Given the description of an element on the screen output the (x, y) to click on. 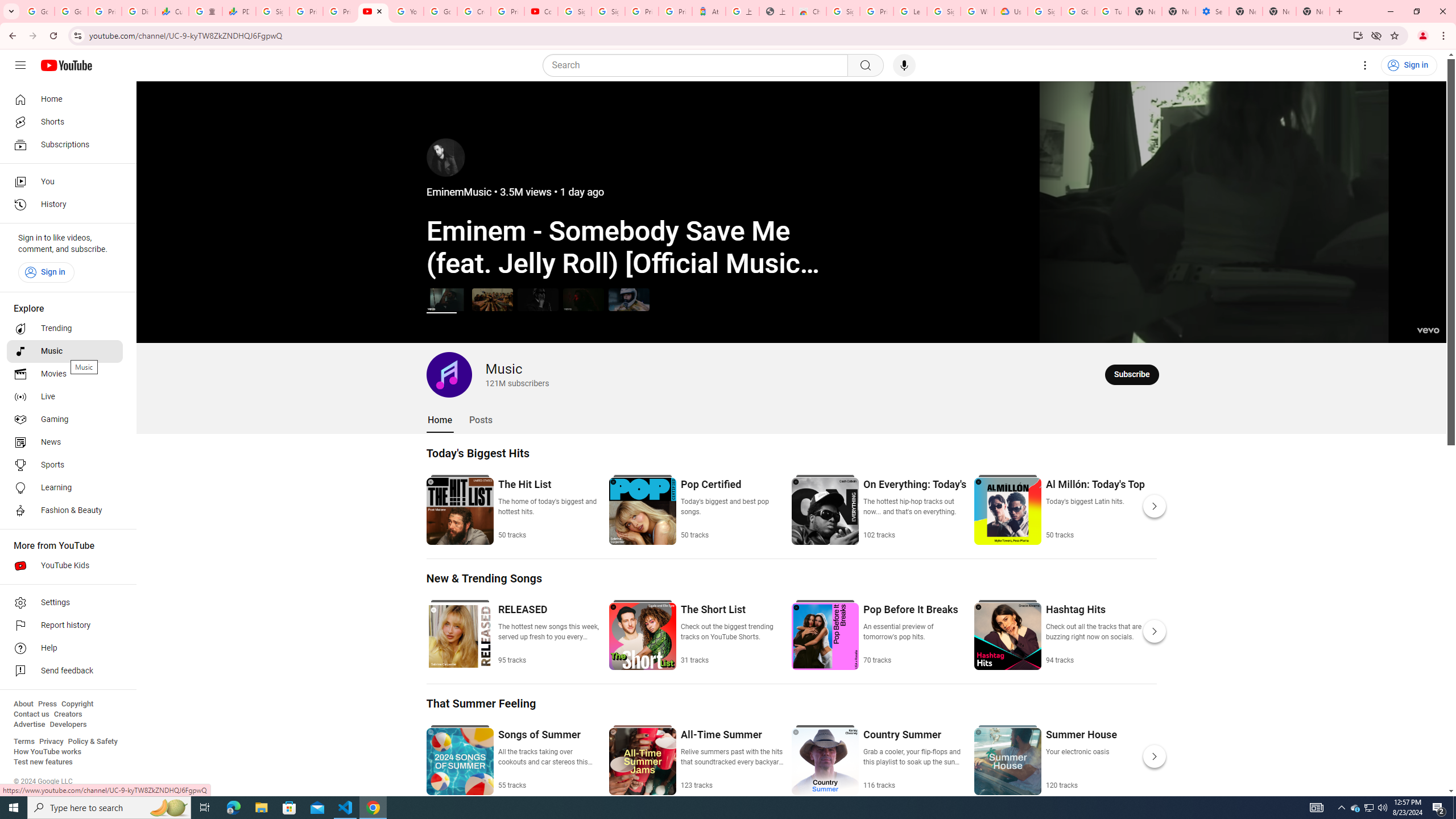
Terms (23, 741)
Next (1154, 756)
Posts (481, 420)
New Tab (1246, 11)
Privacy (51, 741)
Live (64, 396)
